Given the description of an element on the screen output the (x, y) to click on. 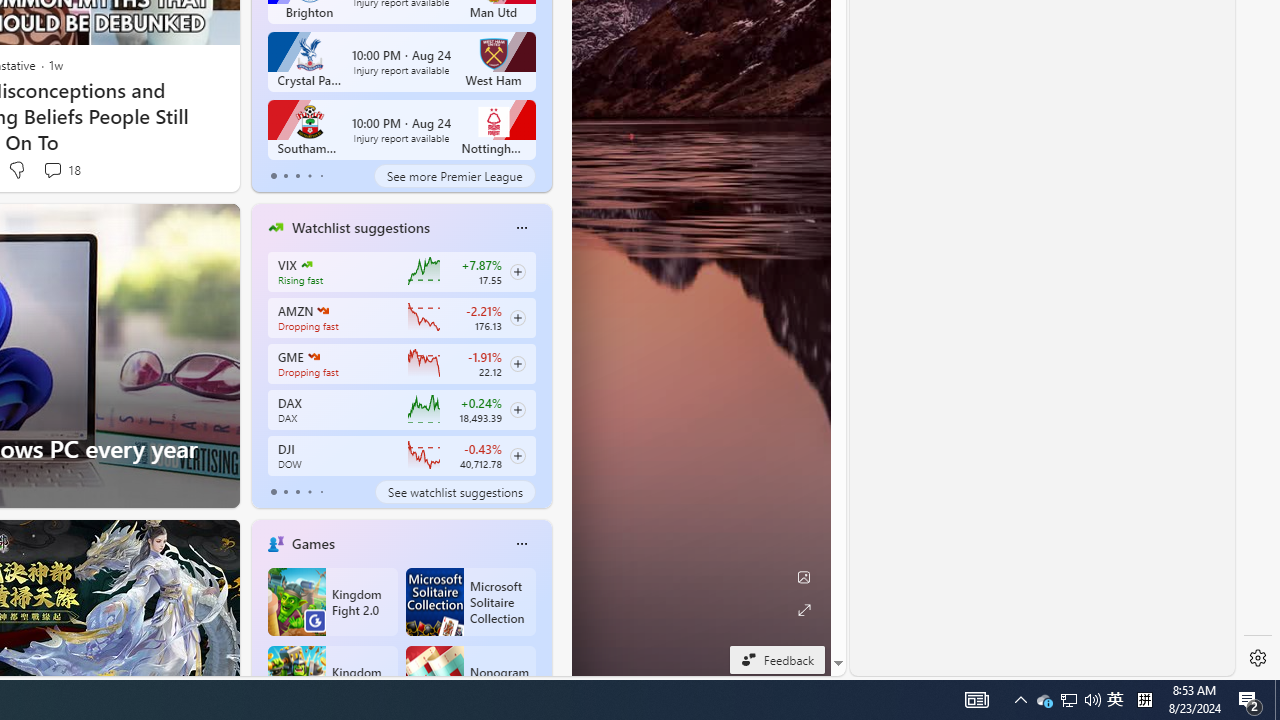
Class: icon-img (521, 543)
tab-1 (285, 491)
Microsoft Solitaire Collection (470, 601)
Nonogram FRVR (470, 679)
Kingdom Fight (332, 679)
Edit Background (803, 577)
tab-0 (273, 491)
See more Premier League (454, 175)
tab-2 (297, 491)
CBOE Market Volatility Index (306, 264)
Class: follow-button  m (517, 455)
